Given the description of an element on the screen output the (x, y) to click on. 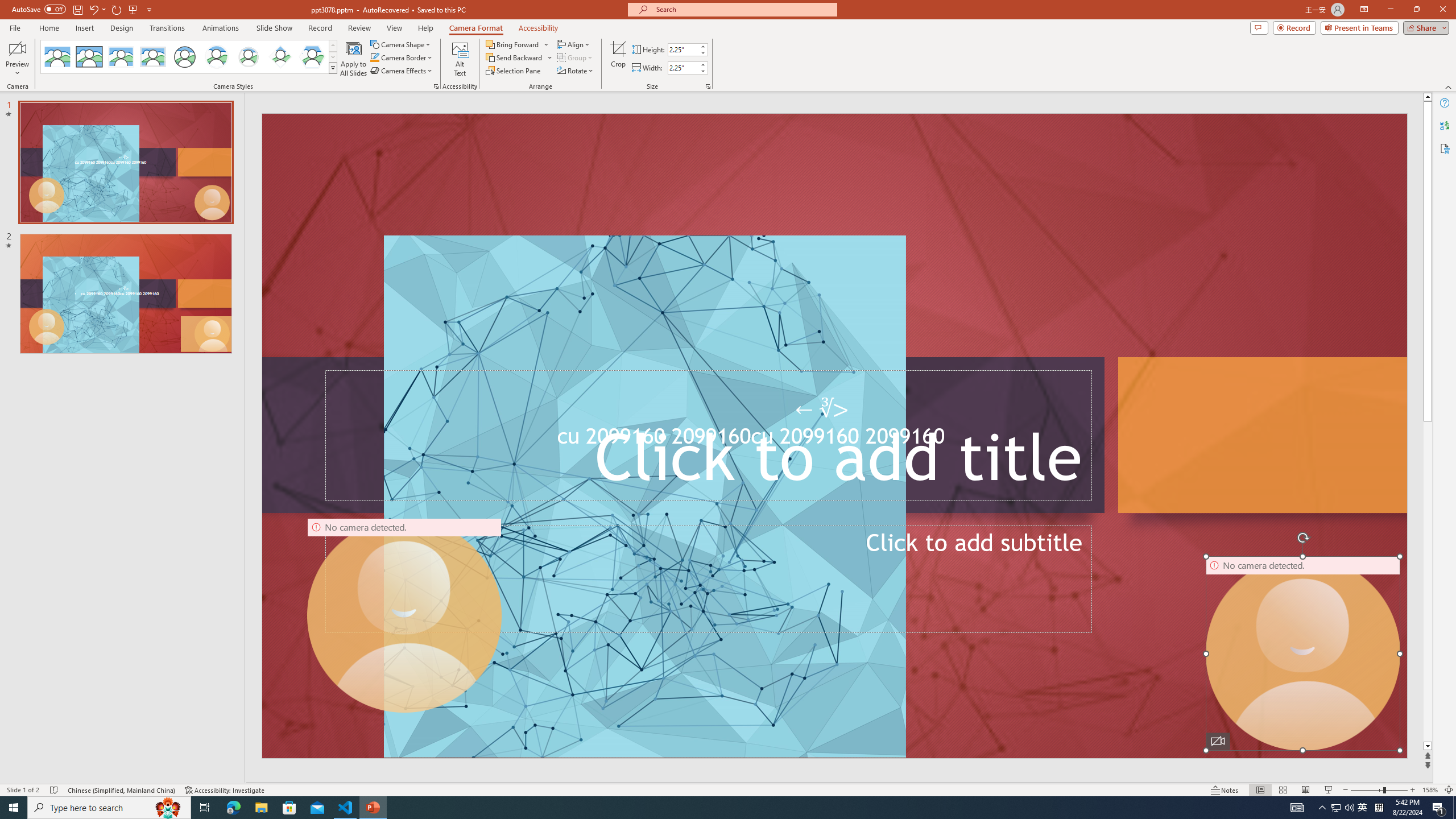
Camera Styles (333, 67)
Group (575, 56)
Bring Forward (513, 44)
Cameo Height (682, 49)
Cameo Width (682, 67)
Camera Effects (402, 69)
